Given the description of an element on the screen output the (x, y) to click on. 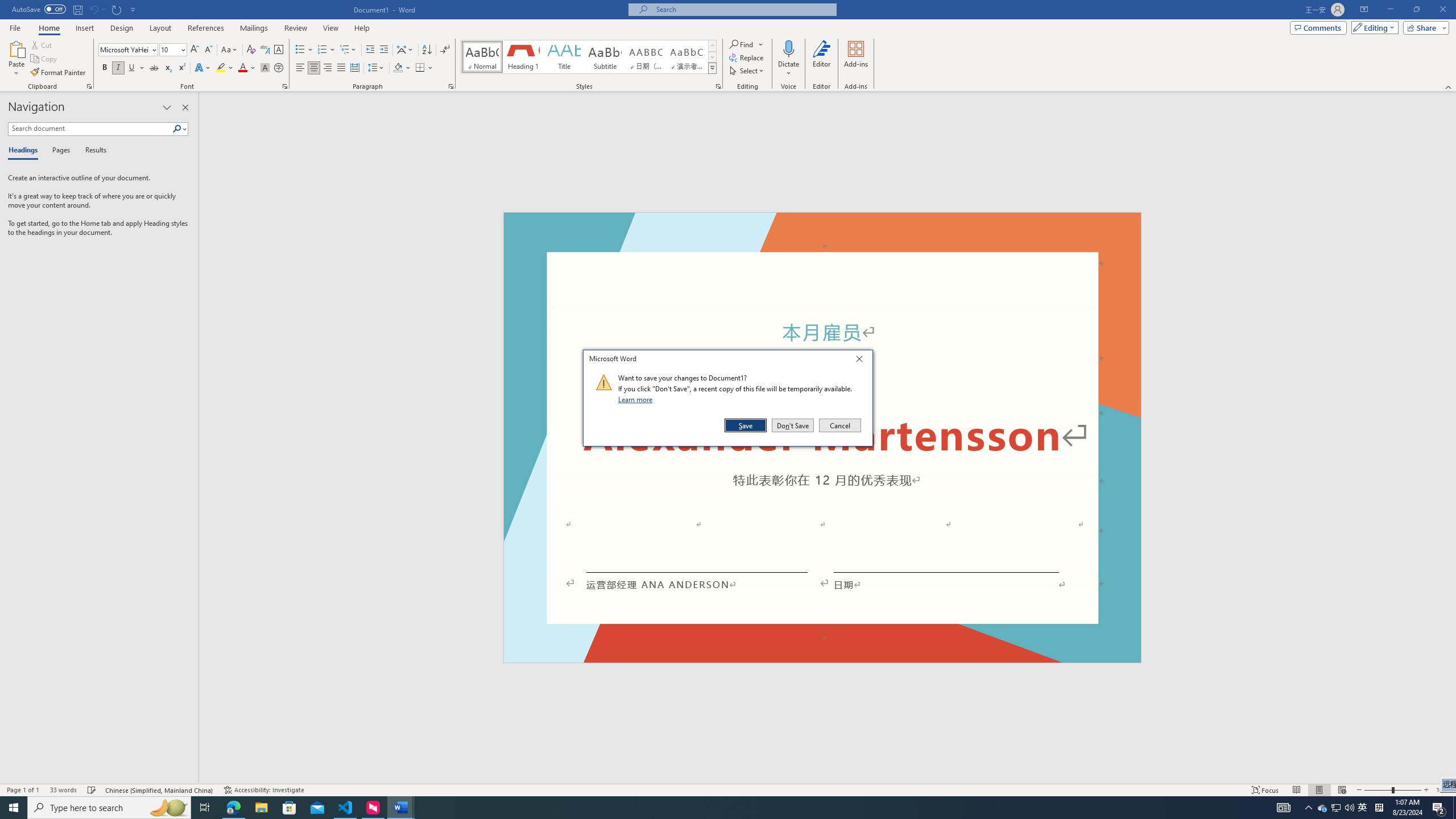
Title (564, 56)
Word - 2 running windows (400, 807)
AutomationID: QuickStylesGallery (588, 56)
Don't Save (792, 425)
